Given the description of an element on the screen output the (x, y) to click on. 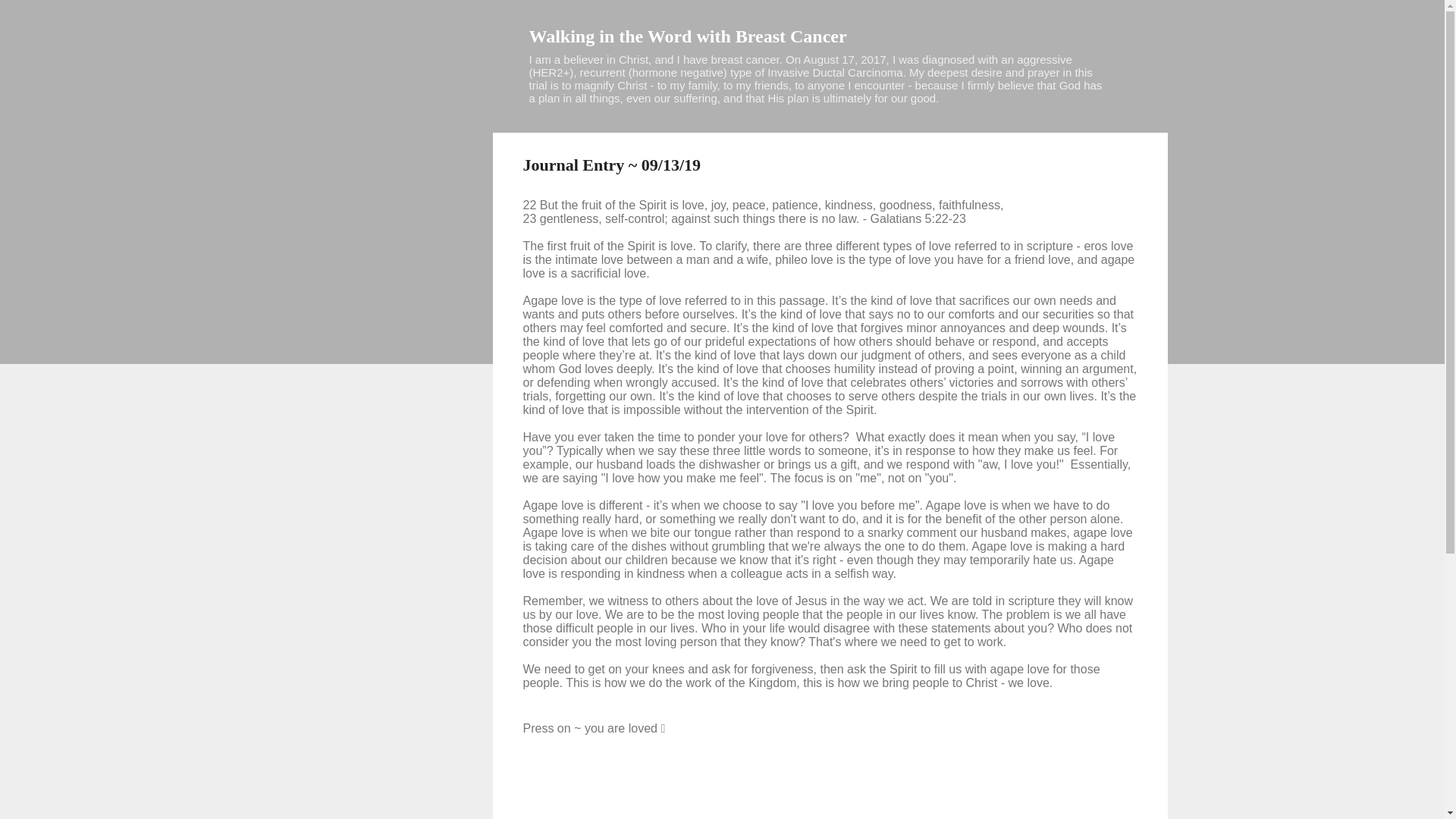
Search (29, 18)
Walking in the Word with Breast Cancer (688, 35)
Email Post (562, 778)
